Given the description of an element on the screen output the (x, y) to click on. 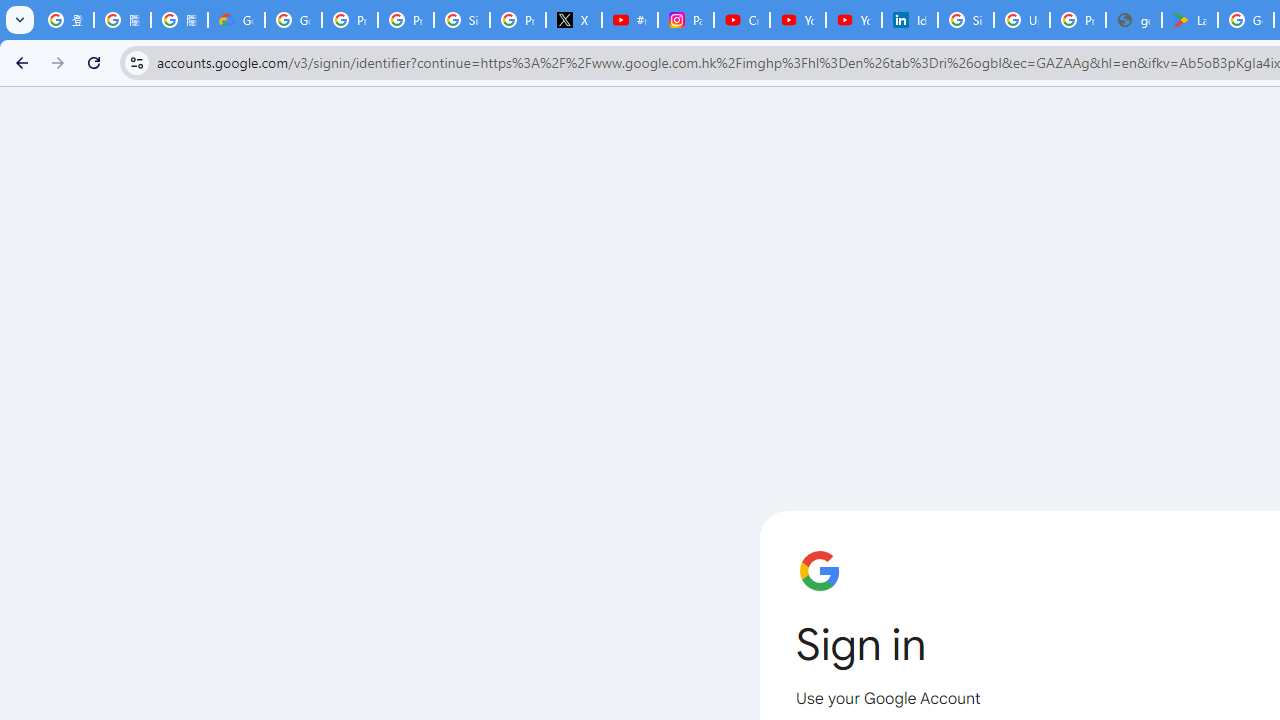
Sign in - Google Accounts (461, 20)
google_privacy_policy_en.pdf (1133, 20)
YouTube Culture & Trends - YouTube Top 10, 2021 (853, 20)
Last Shelter: Survival - Apps on Google Play (1190, 20)
X (573, 20)
